Given the description of an element on the screen output the (x, y) to click on. 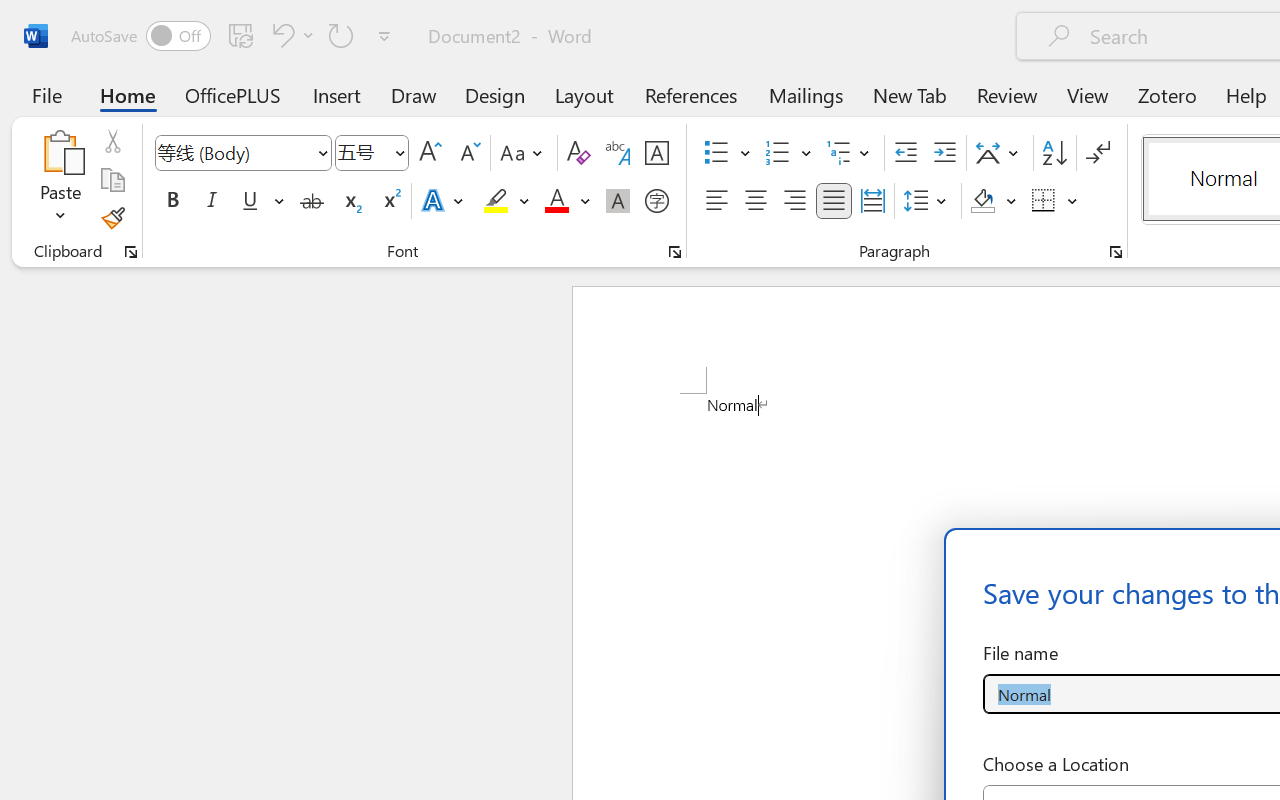
Superscript (390, 201)
Strikethrough (312, 201)
Review (1007, 94)
Font Color Red (556, 201)
Home (127, 94)
Text Highlight Color (506, 201)
Customize Quick Access Toolbar (384, 35)
Justify (834, 201)
Cut (112, 141)
Underline (250, 201)
Bullets (727, 153)
Increase Indent (944, 153)
More Options (1073, 201)
View (1087, 94)
